Given the description of an element on the screen output the (x, y) to click on. 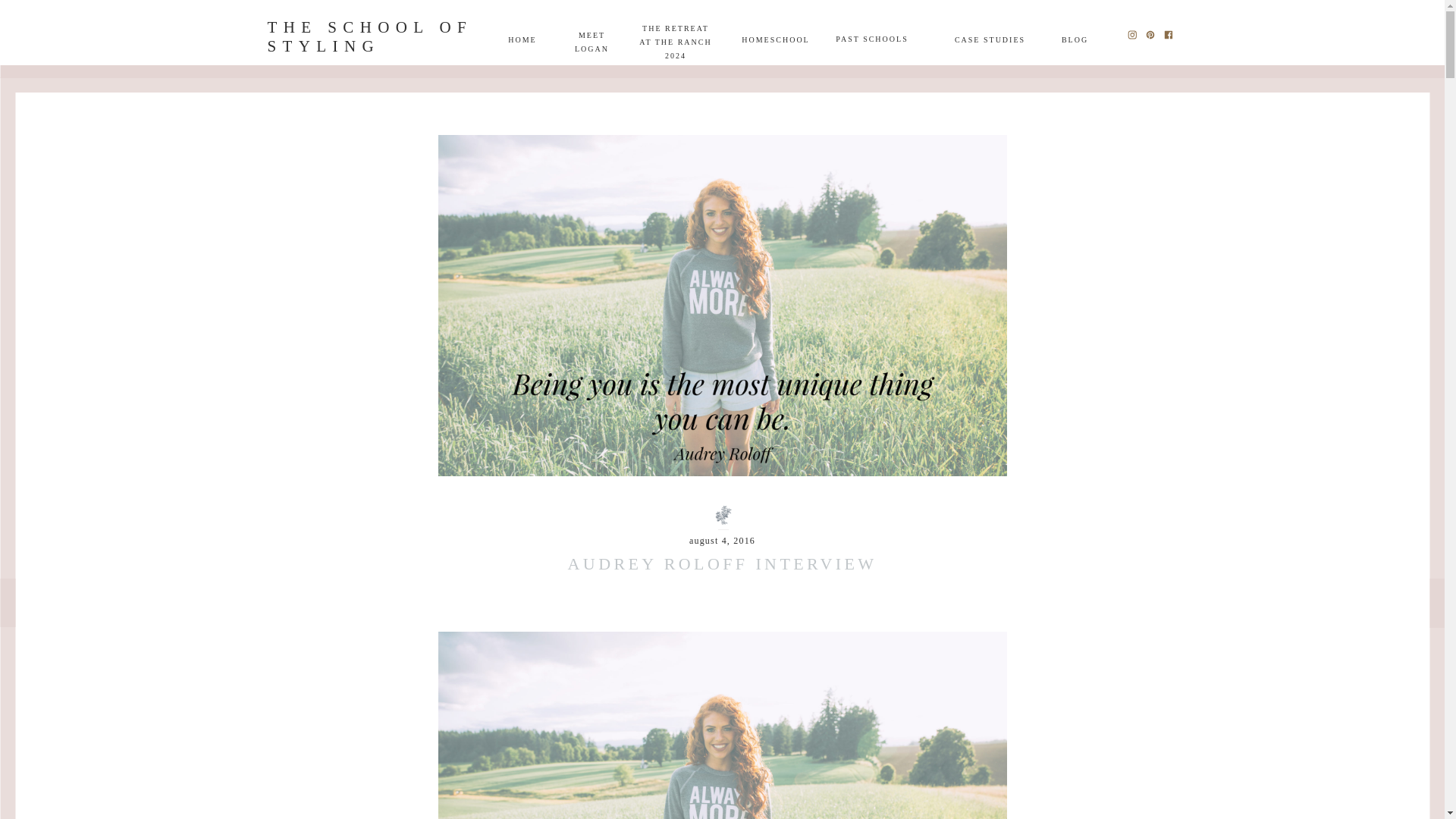
Instagram-color Created with Sketch. (1130, 34)
CASE STUDIES (989, 39)
PAST SCHOOLS (872, 38)
MEET LOGAN (592, 33)
Instagram-color Created with Sketch. (1130, 33)
THE SCHOOL OF STYLING (373, 36)
Facebook Copy-color Created with Sketch. (675, 40)
BLOG (1167, 34)
HOME (1074, 39)
HOMESCHOOL (522, 38)
Facebook Copy-color Created with Sketch. (774, 39)
